Given the description of an element on the screen output the (x, y) to click on. 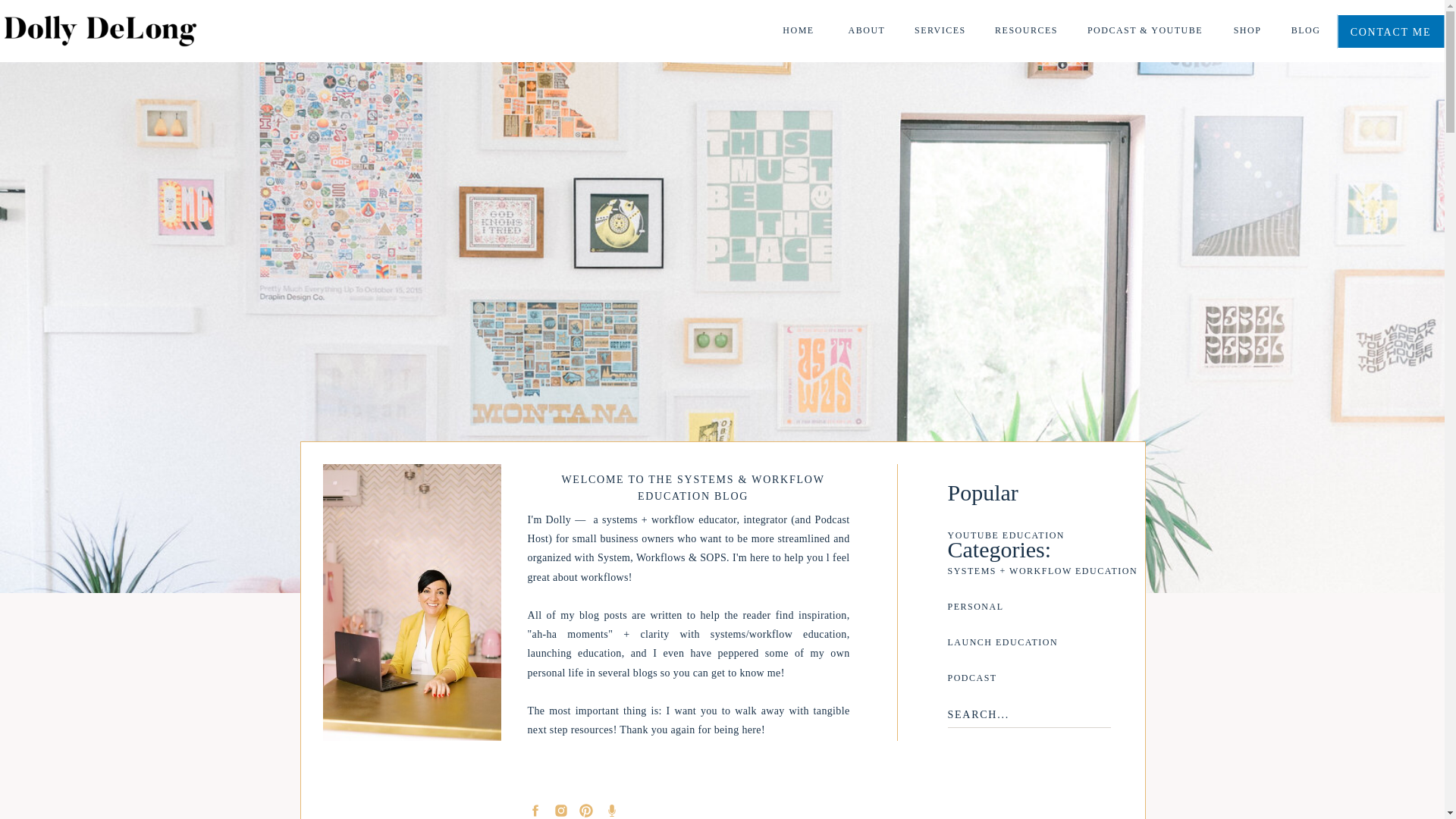
CONTACT ME (1389, 31)
ABOUT (867, 31)
SERVICES (938, 31)
HOME (798, 31)
BLOG (1305, 31)
PERSONAL (1023, 611)
RESOURCES (1026, 31)
LAUNCH EDUCATION (1023, 647)
SHOP (1247, 31)
PODCAST (1023, 683)
YOUTUBE EDUCATION (1037, 540)
